Given the description of an element on the screen output the (x, y) to click on. 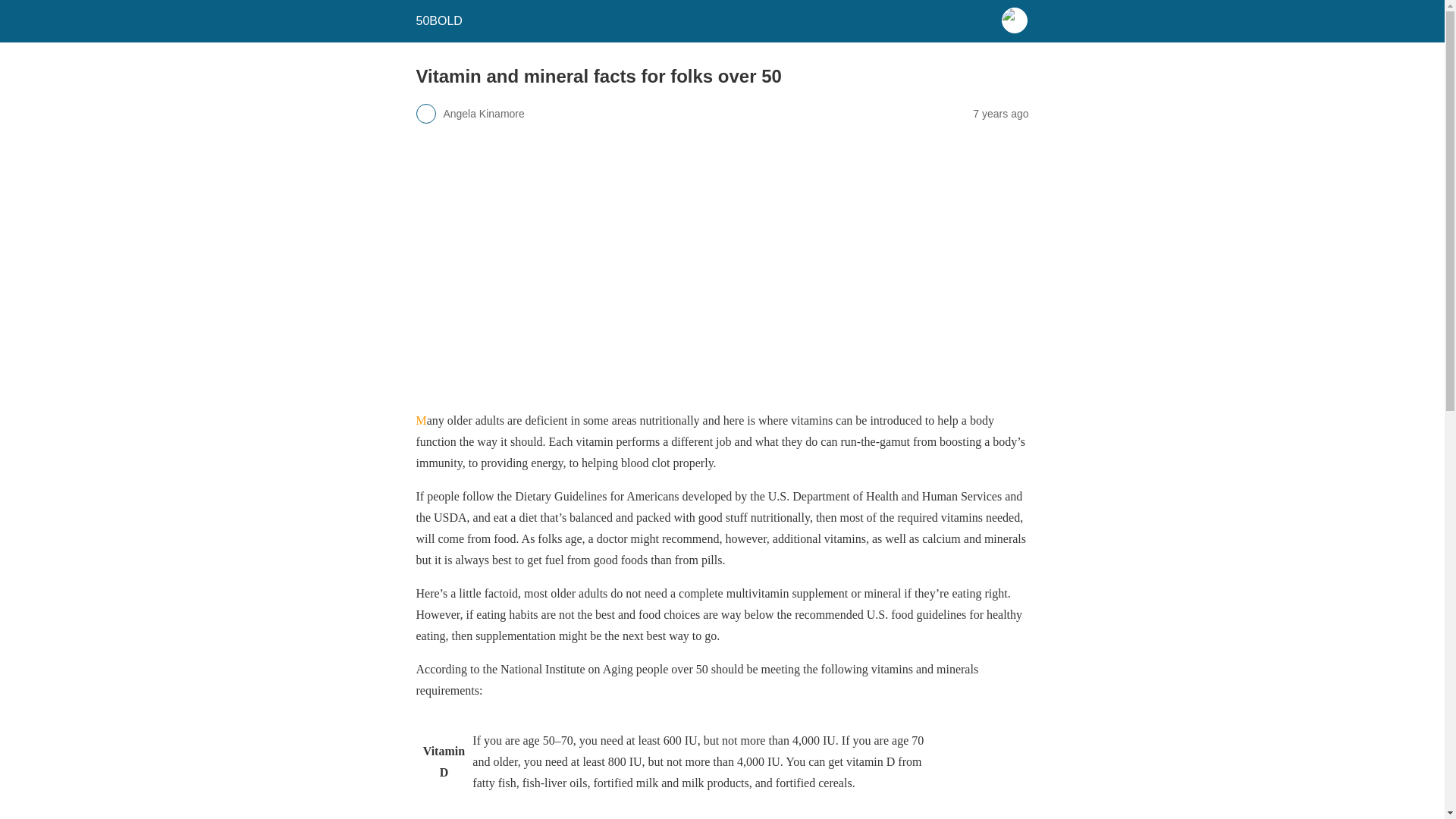
50BOLD (437, 20)
